Given the description of an element on the screen output the (x, y) to click on. 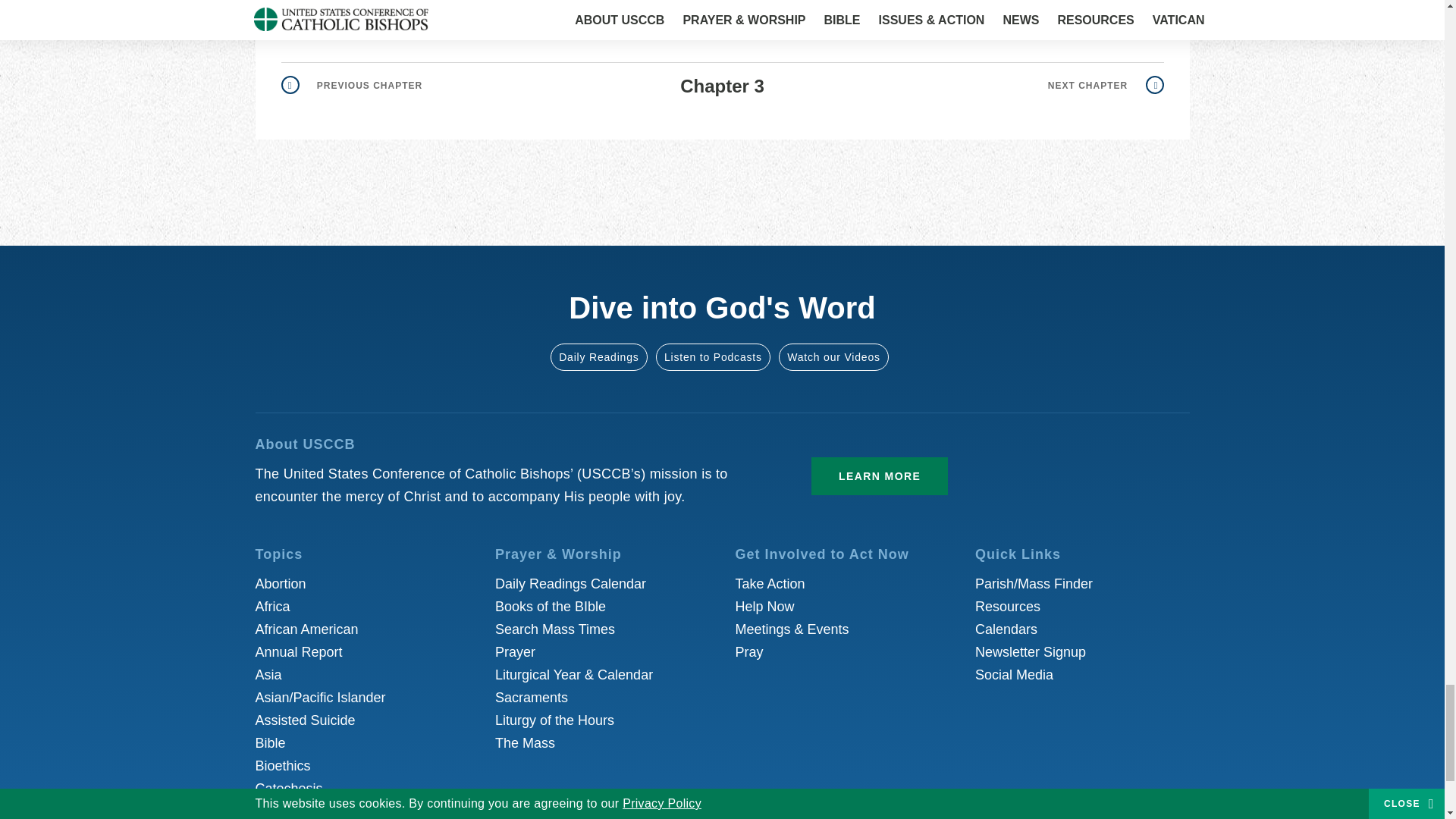
Go to previous page (351, 85)
Go to next page (1105, 85)
